Given the description of an element on the screen output the (x, y) to click on. 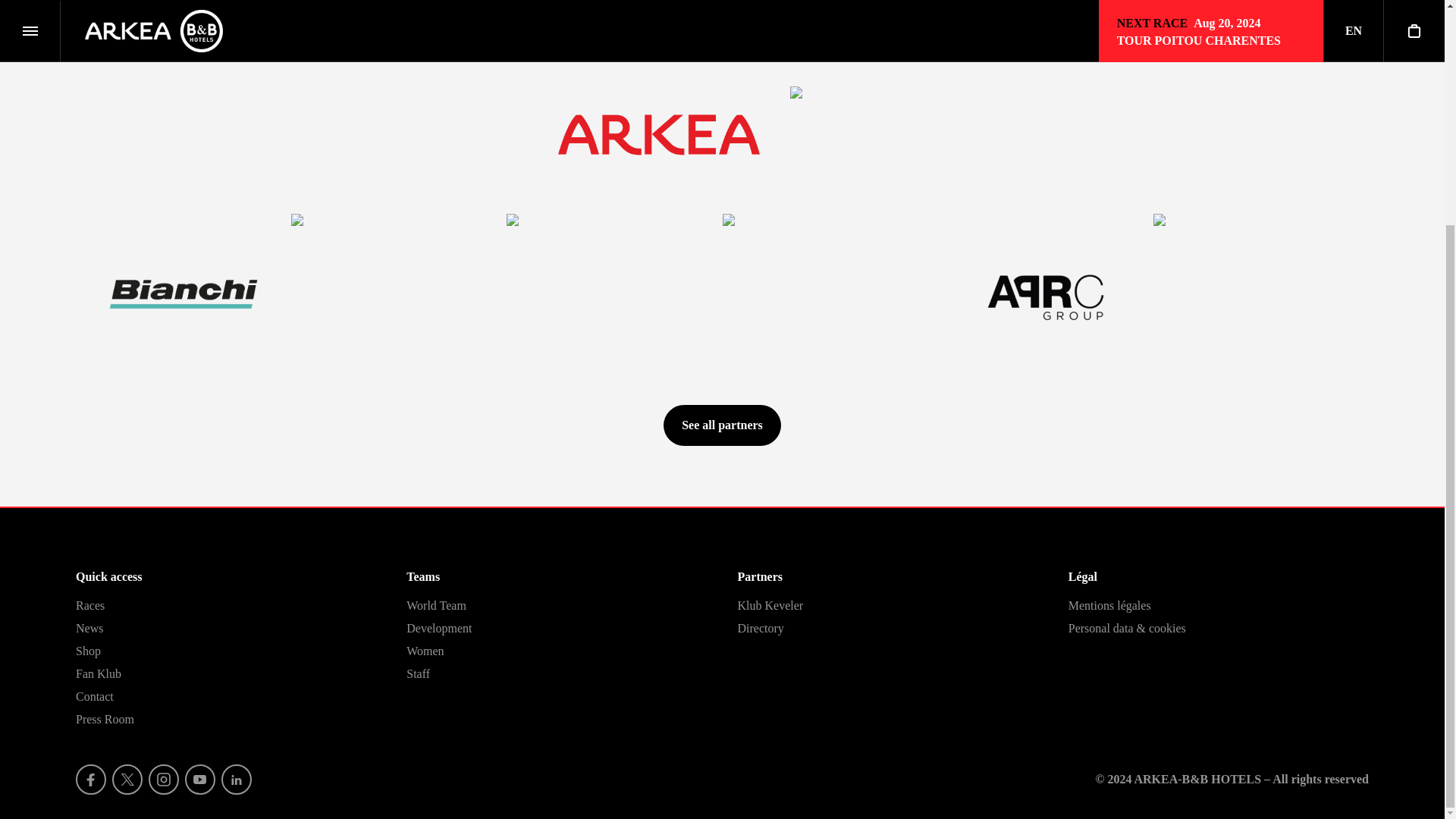
Klub Keveler (769, 604)
News (89, 627)
Contact (94, 696)
Races (89, 604)
Press Room (104, 718)
See all partners (721, 424)
Women (425, 650)
Directory (759, 627)
Development (438, 627)
Staff (417, 673)
